Given the description of an element on the screen output the (x, y) to click on. 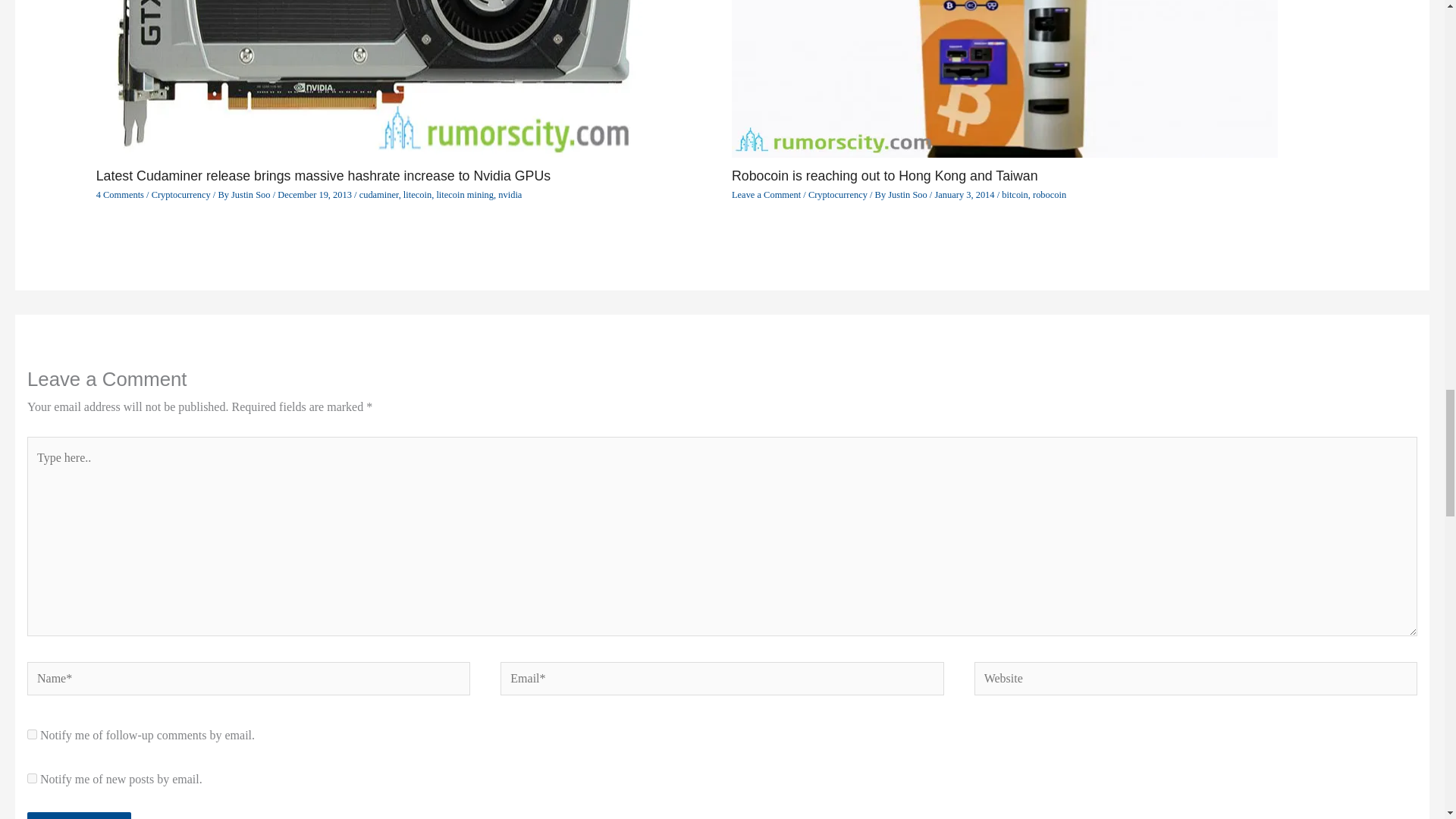
subscribe (32, 734)
View all posts by Justin Soo (252, 194)
Robocoin is reaching out to Hong Kong and Taiwan 5 (1005, 79)
subscribe (32, 777)
